Given the description of an element on the screen output the (x, y) to click on. 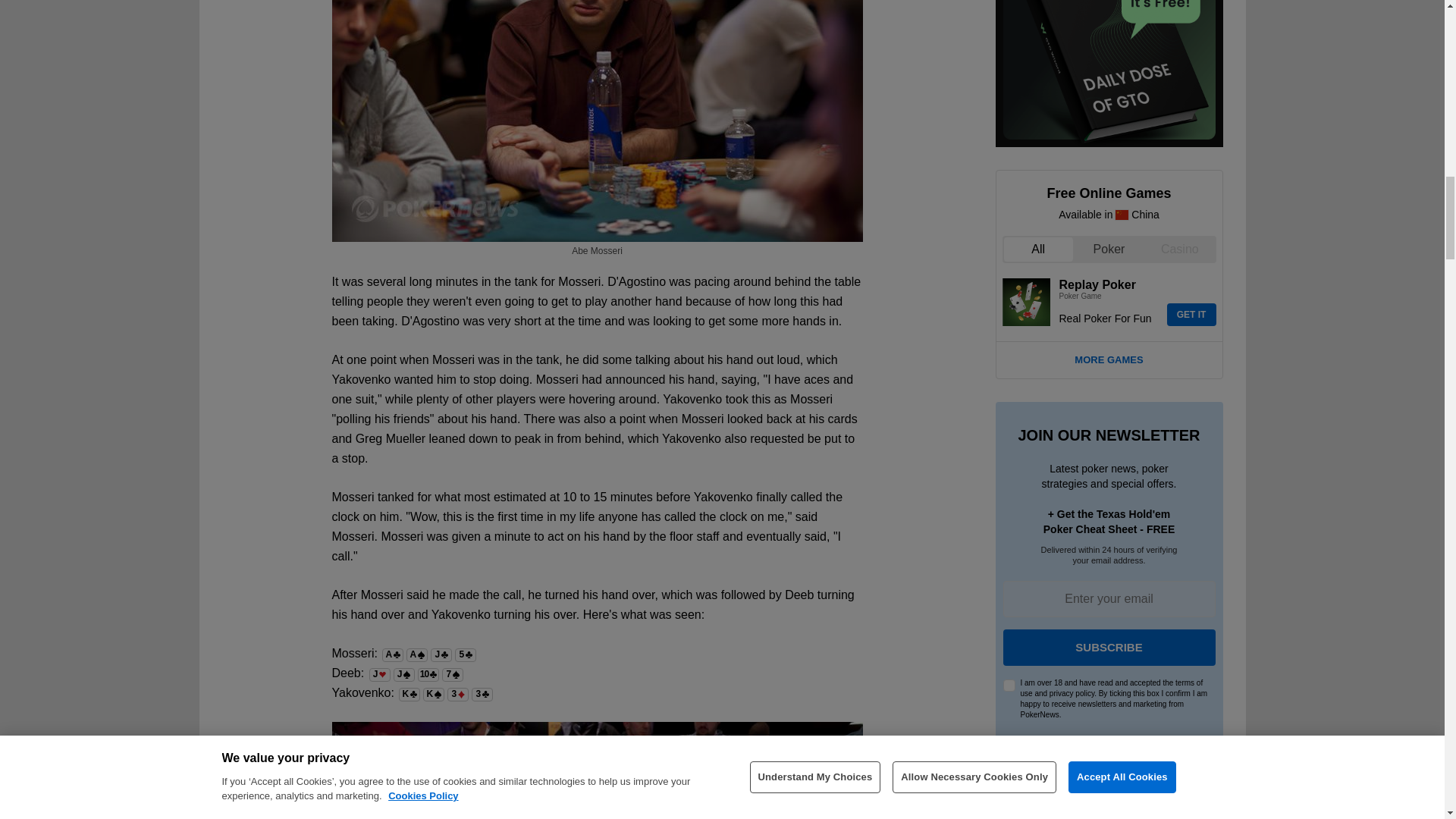
on (1008, 685)
